Given the description of an element on the screen output the (x, y) to click on. 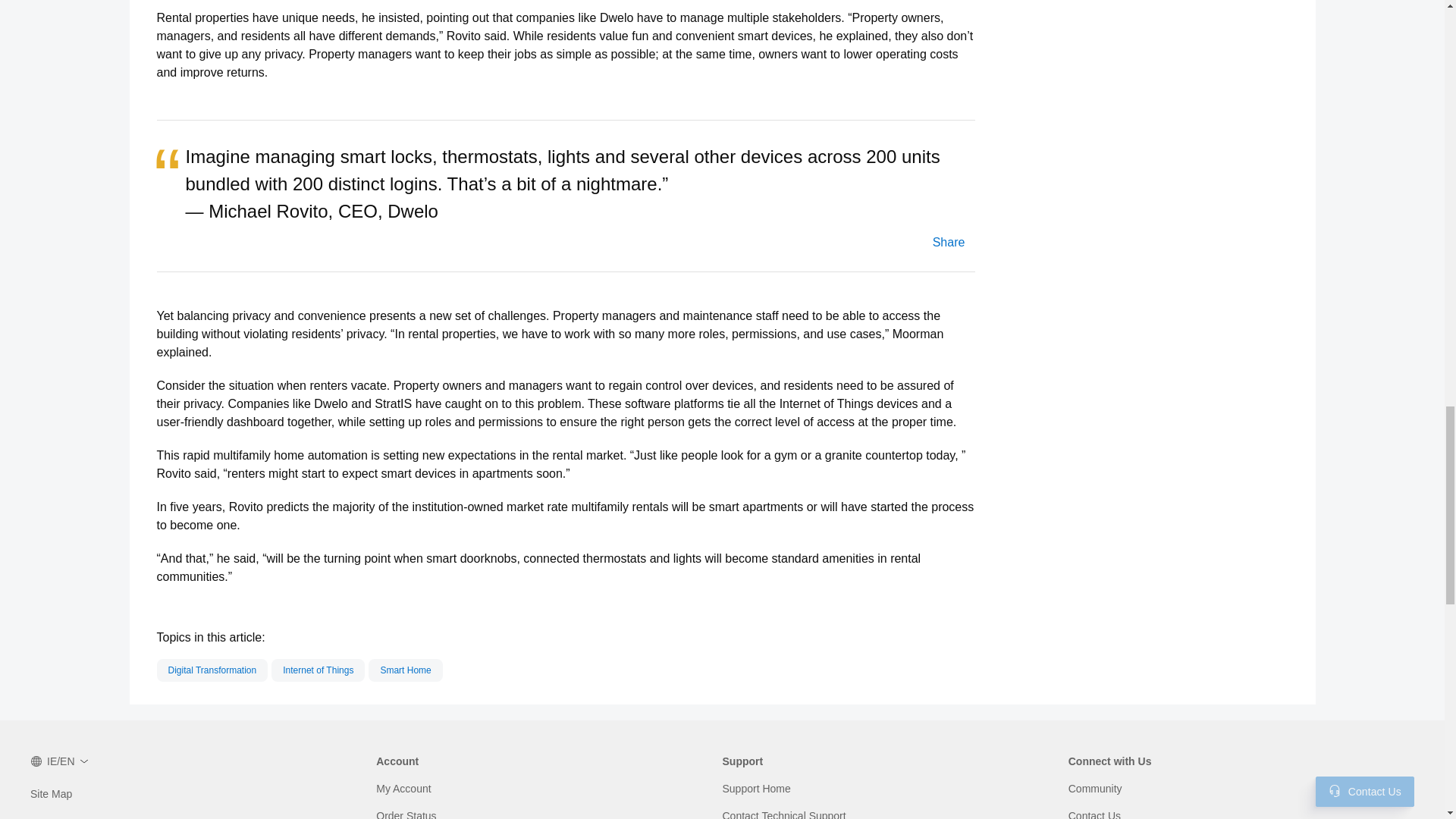
twitter (947, 241)
